Given the description of an element on the screen output the (x, y) to click on. 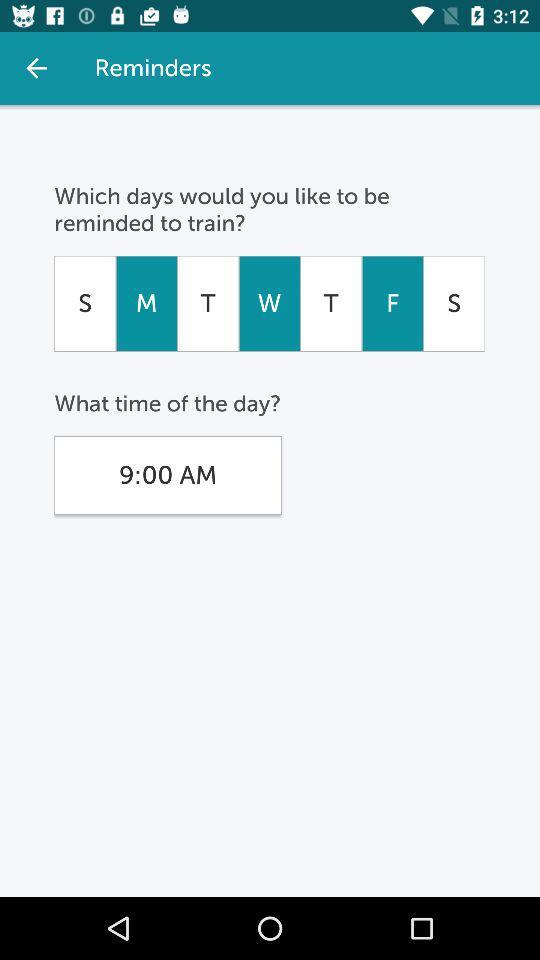
tap the icon to the left of s item (392, 303)
